Given the description of an element on the screen output the (x, y) to click on. 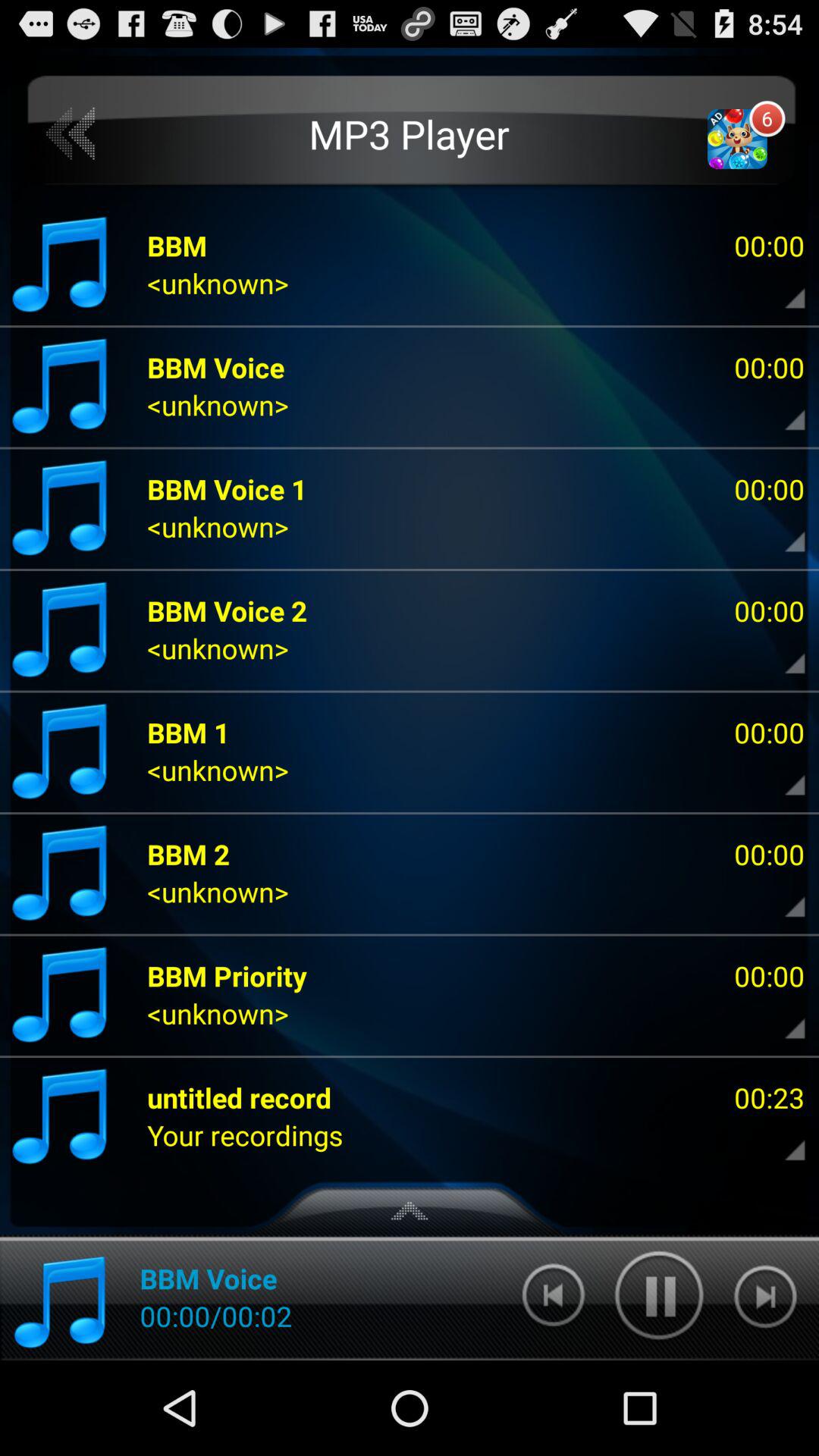
open information (782, 409)
